Given the description of an element on the screen output the (x, y) to click on. 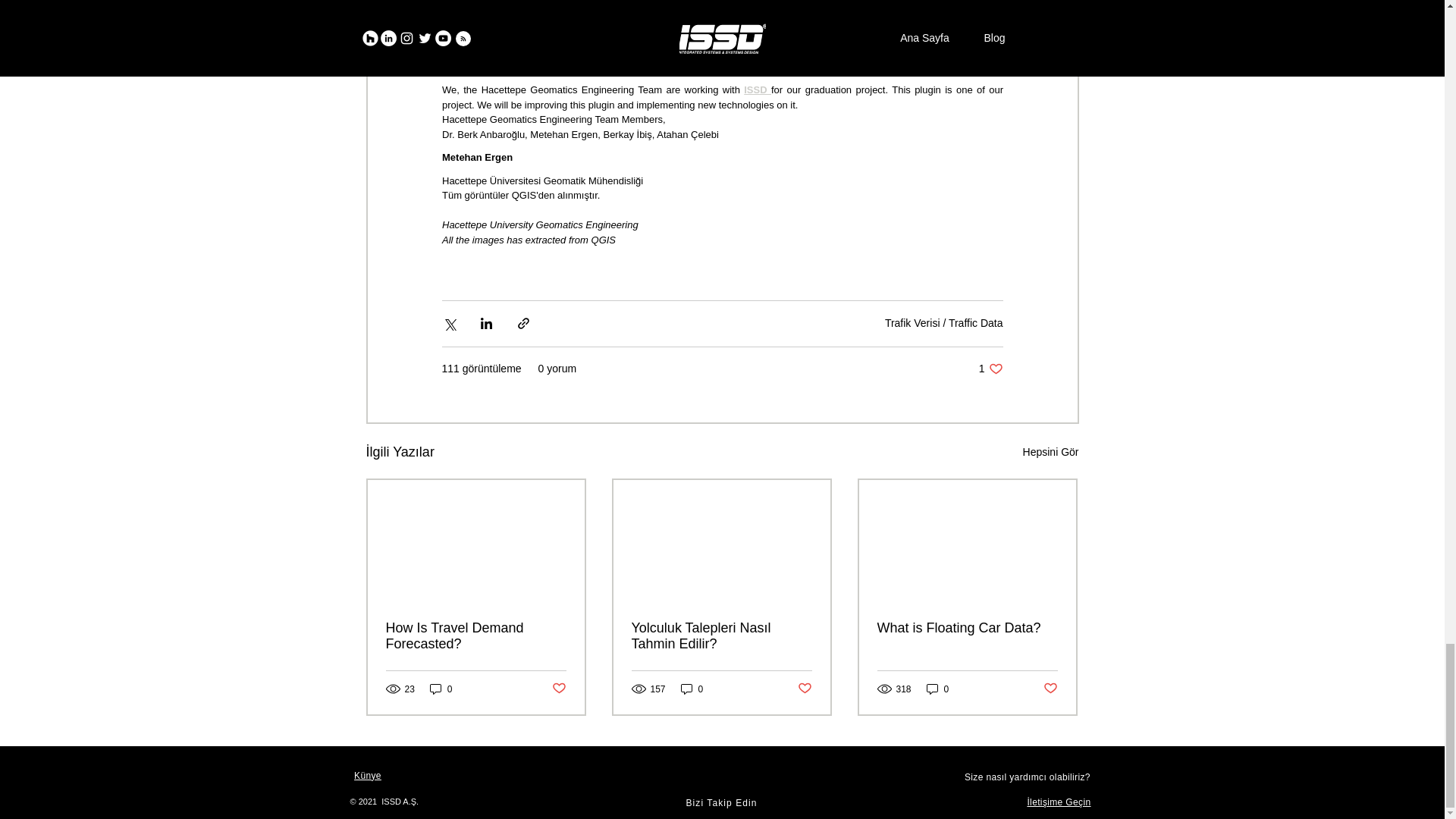
How Is Travel Demand Forecasted? (475, 635)
0 (691, 688)
0 (441, 688)
ISSD  (757, 89)
